Given the description of an element on the screen output the (x, y) to click on. 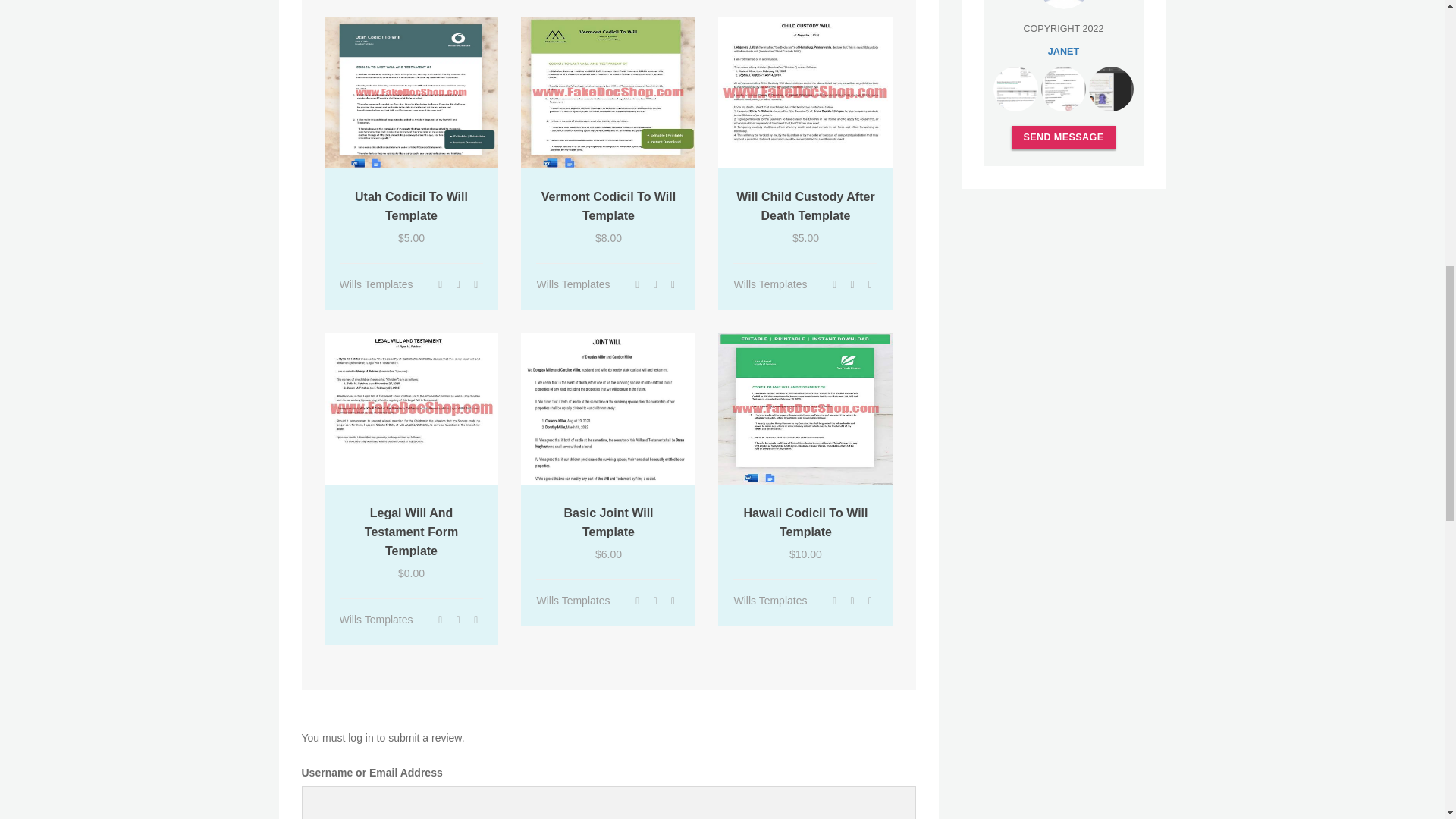
Buy Now (457, 284)
View  (835, 284)
Legal Aid Will Template 3 (608, 92)
Legal Aid Will Template 2 (411, 92)
Add to cart (475, 619)
Add to cart (673, 284)
View  (637, 284)
Buy Now (654, 284)
Legal Aid Will Template 4 (804, 92)
Add to cart (870, 284)
Add to cart (475, 284)
Legal Aid Will Template 5 (411, 408)
View  (440, 619)
Buy Now (457, 619)
Buy Now (852, 284)
